Given the description of an element on the screen output the (x, y) to click on. 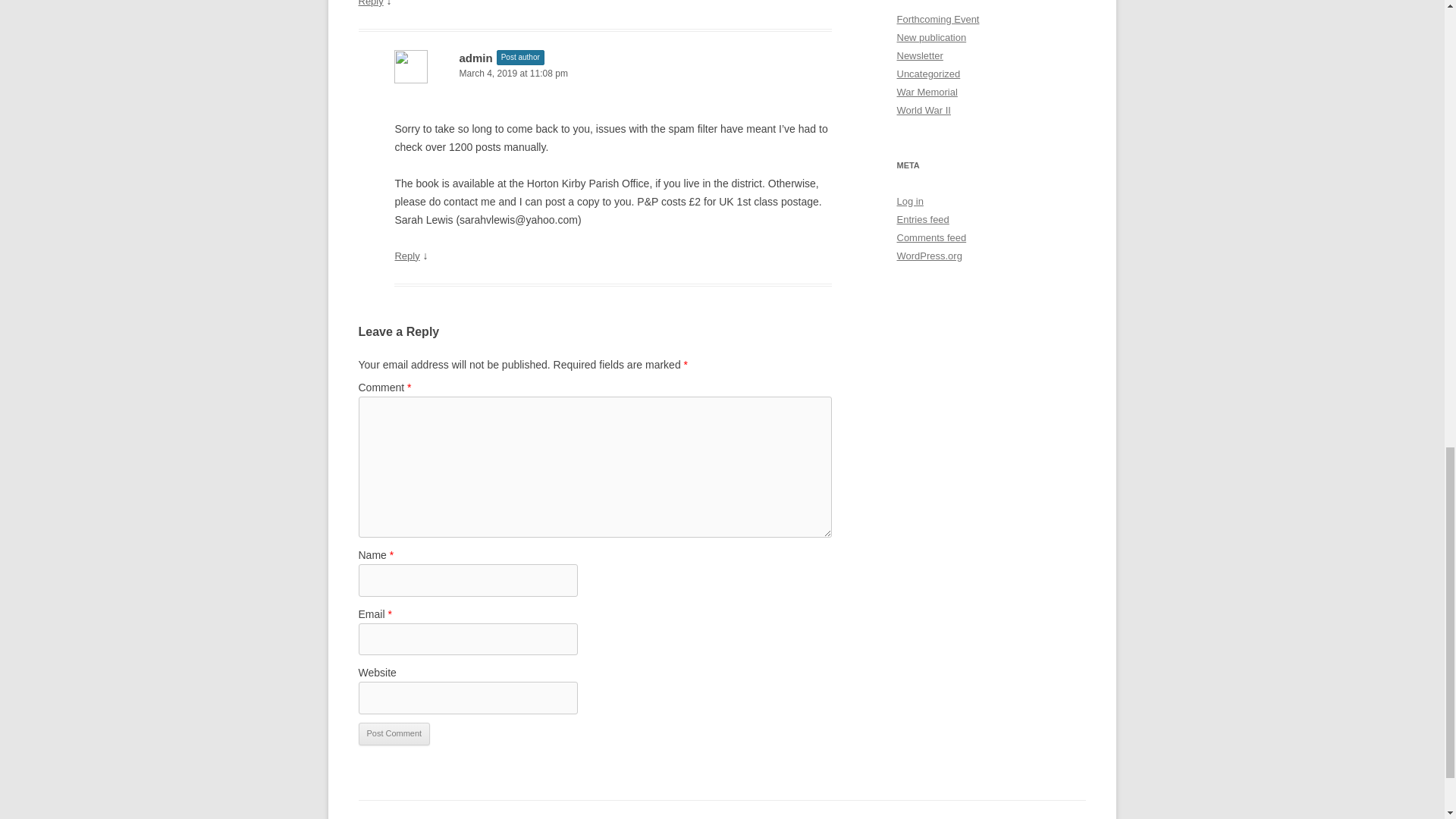
Reply (406, 255)
Post Comment (393, 733)
March 4, 2019 at 11:08 pm (612, 73)
Reply (370, 3)
Post Comment (393, 733)
